Given the description of an element on the screen output the (x, y) to click on. 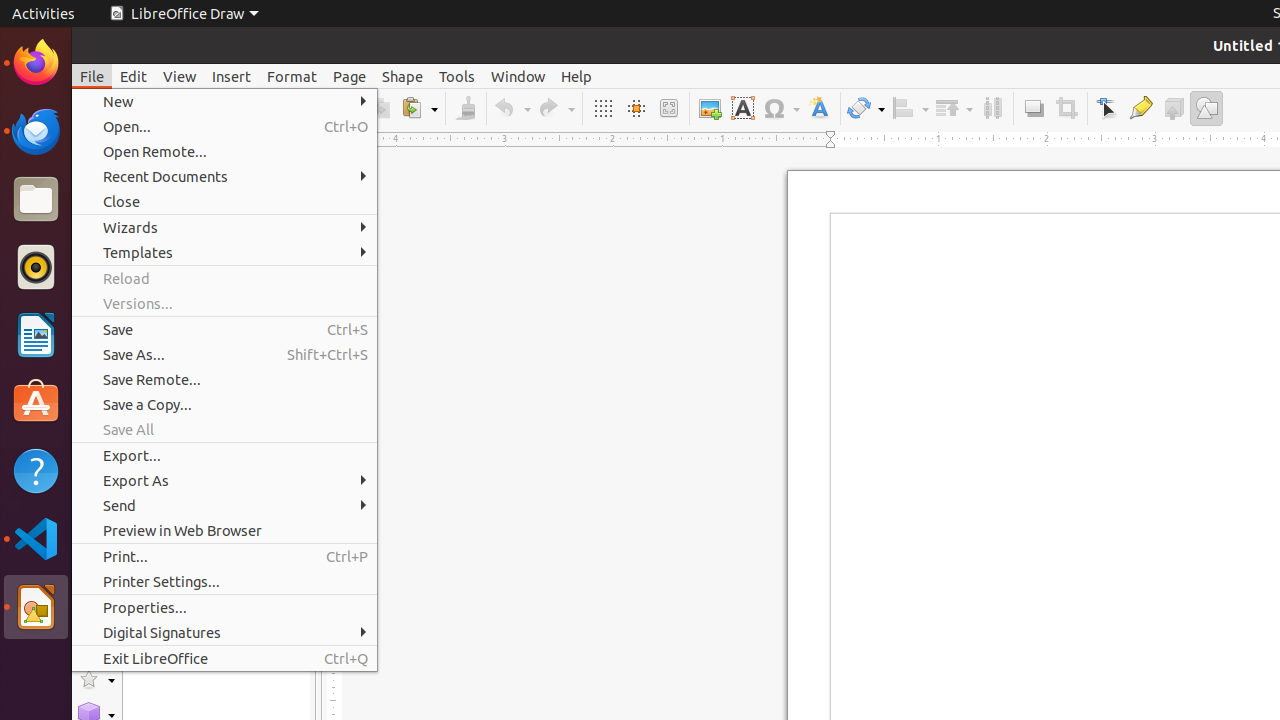
Shadow Element type: toggle-button (1033, 108)
Recent Documents Element type: menu (224, 176)
Save Remote... Element type: menu-item (224, 379)
Exit LibreOffice Element type: menu-item (224, 658)
Print... Element type: menu-item (224, 556)
